Given the description of an element on the screen output the (x, y) to click on. 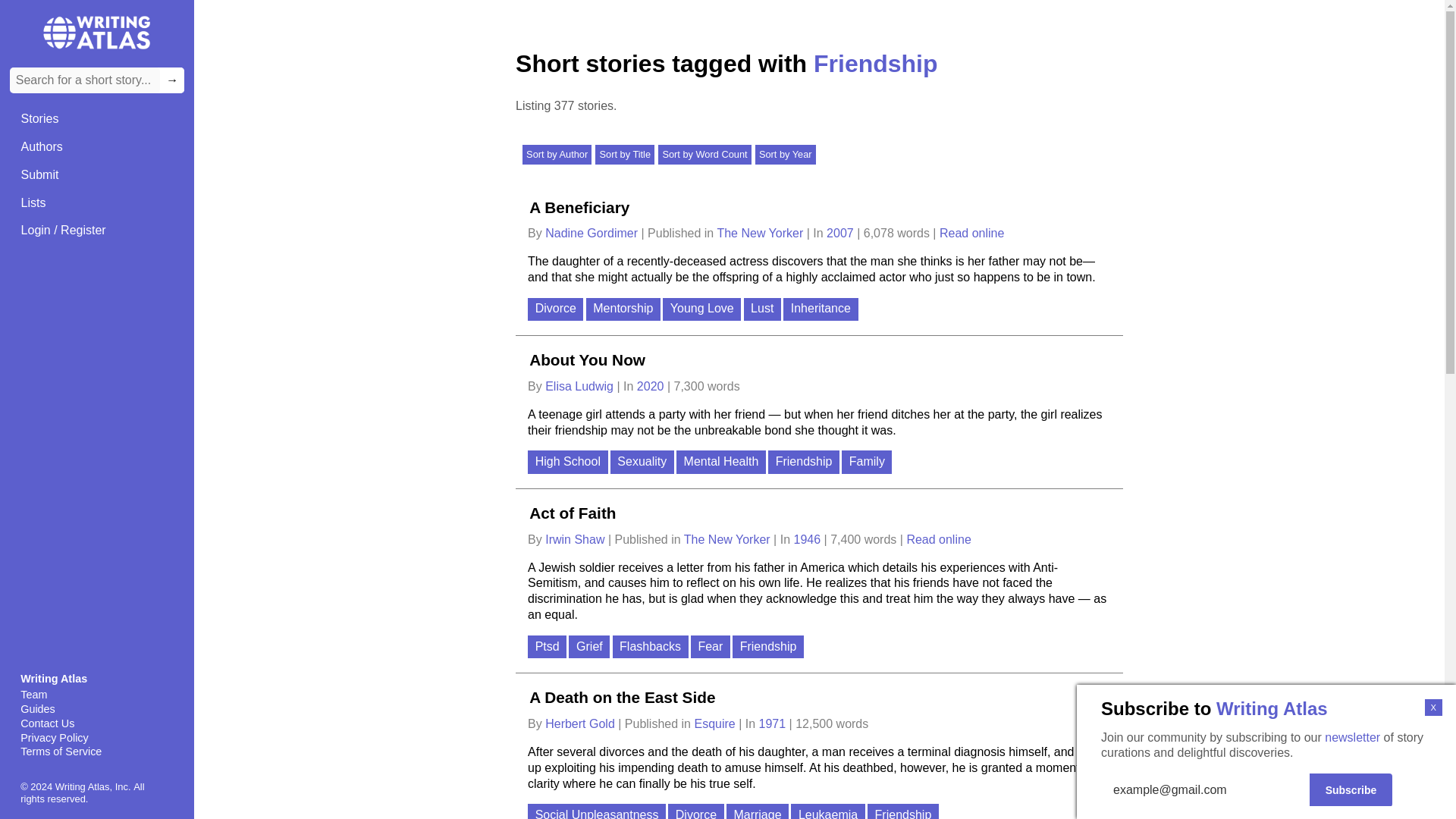
The New Yorker (761, 232)
2007 (842, 232)
Read online (971, 232)
Divorce (556, 310)
Terms of Service (96, 751)
Act of Faith (572, 512)
Submit (39, 175)
A Beneficiary (578, 206)
Stories (39, 119)
Nadine Gordimer (592, 232)
Sort by Word Count (704, 153)
The New Yorker (728, 539)
Irwin Shaw (576, 539)
7,300 (689, 386)
Lust (764, 310)
